Given the description of an element on the screen output the (x, y) to click on. 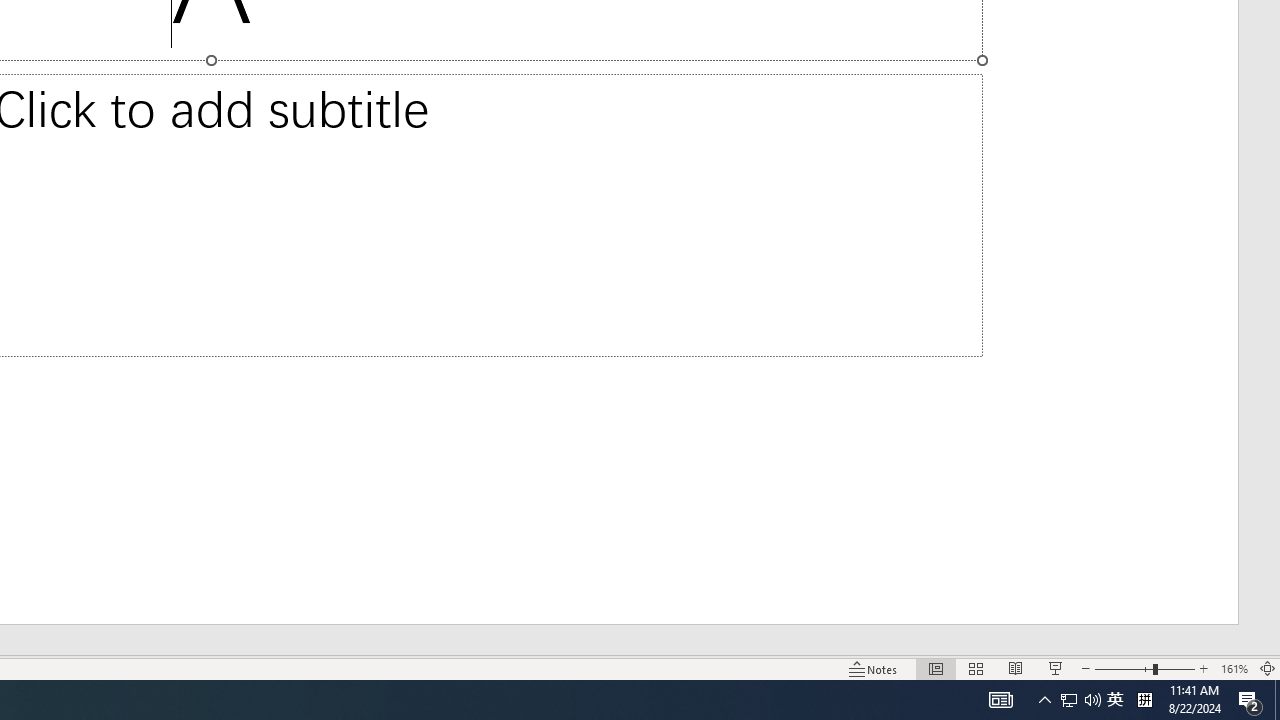
Zoom 161% (1234, 668)
